Given the description of an element on the screen output the (x, y) to click on. 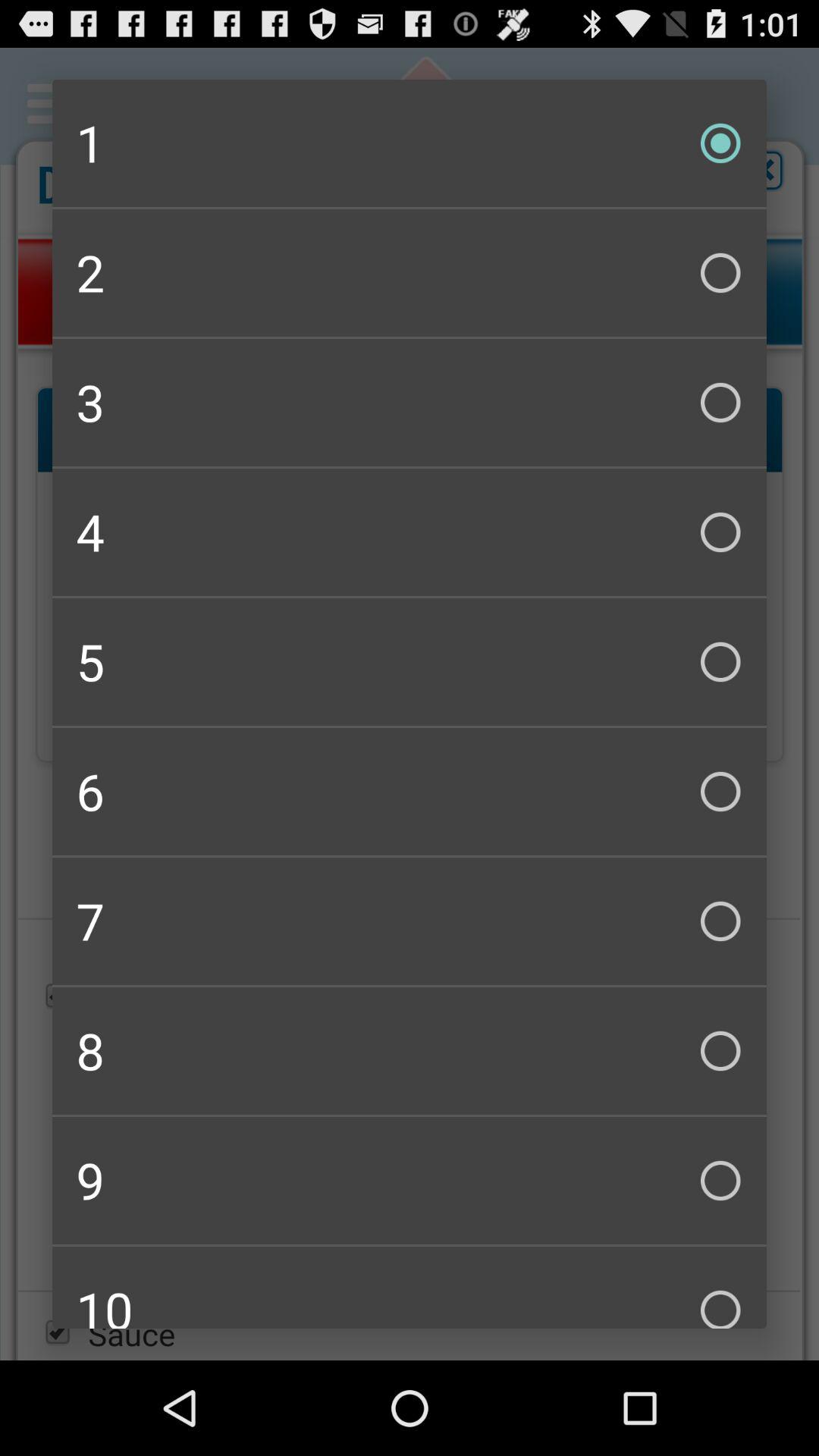
choose the 10 item (409, 1287)
